Given the description of an element on the screen output the (x, y) to click on. 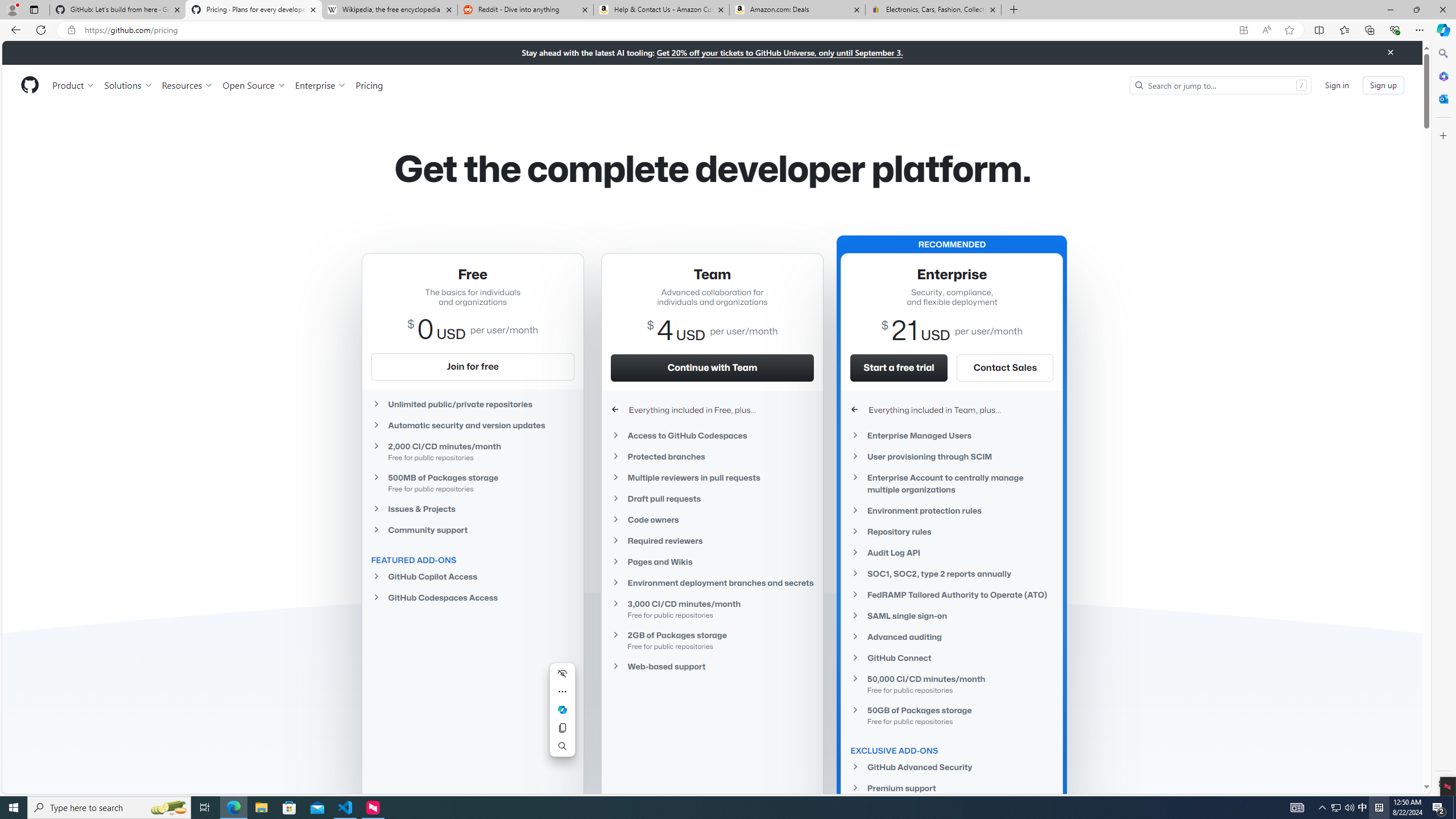
Everything included in Team, plus... (952, 409)
Environment protection rules (952, 510)
GitHub Codespaces Access (473, 597)
More actions (562, 691)
Web-based support (711, 666)
Audit Log API (952, 552)
User provisioning through SCIM (952, 456)
Pages and Wikis (711, 561)
GitHub Copilot Access (473, 576)
Multiple reviewers in pull requests (711, 477)
